Given the description of an element on the screen output the (x, y) to click on. 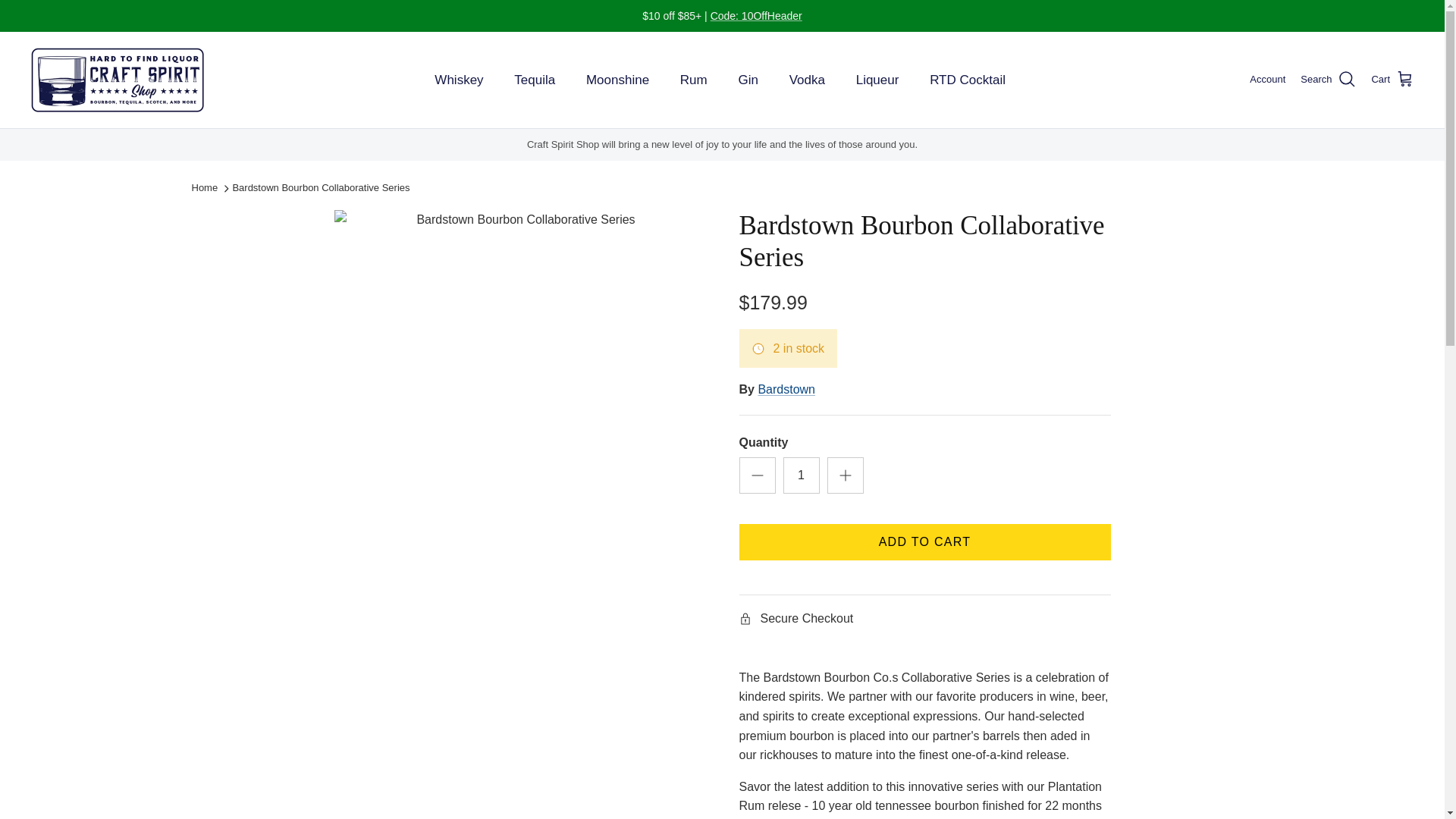
Tequila (534, 80)
Vodka (807, 80)
1 (800, 475)
Craft Spirit Shop (117, 79)
Code: 10OffHeader (756, 15)
Whiskey (458, 80)
Cart (1392, 79)
Moonshine (617, 80)
Rum (693, 80)
RTD Cocktail (967, 80)
Plus (844, 475)
Search (1327, 79)
Minus (756, 475)
Account (1267, 79)
Liqueur (877, 80)
